Given the description of an element on the screen output the (x, y) to click on. 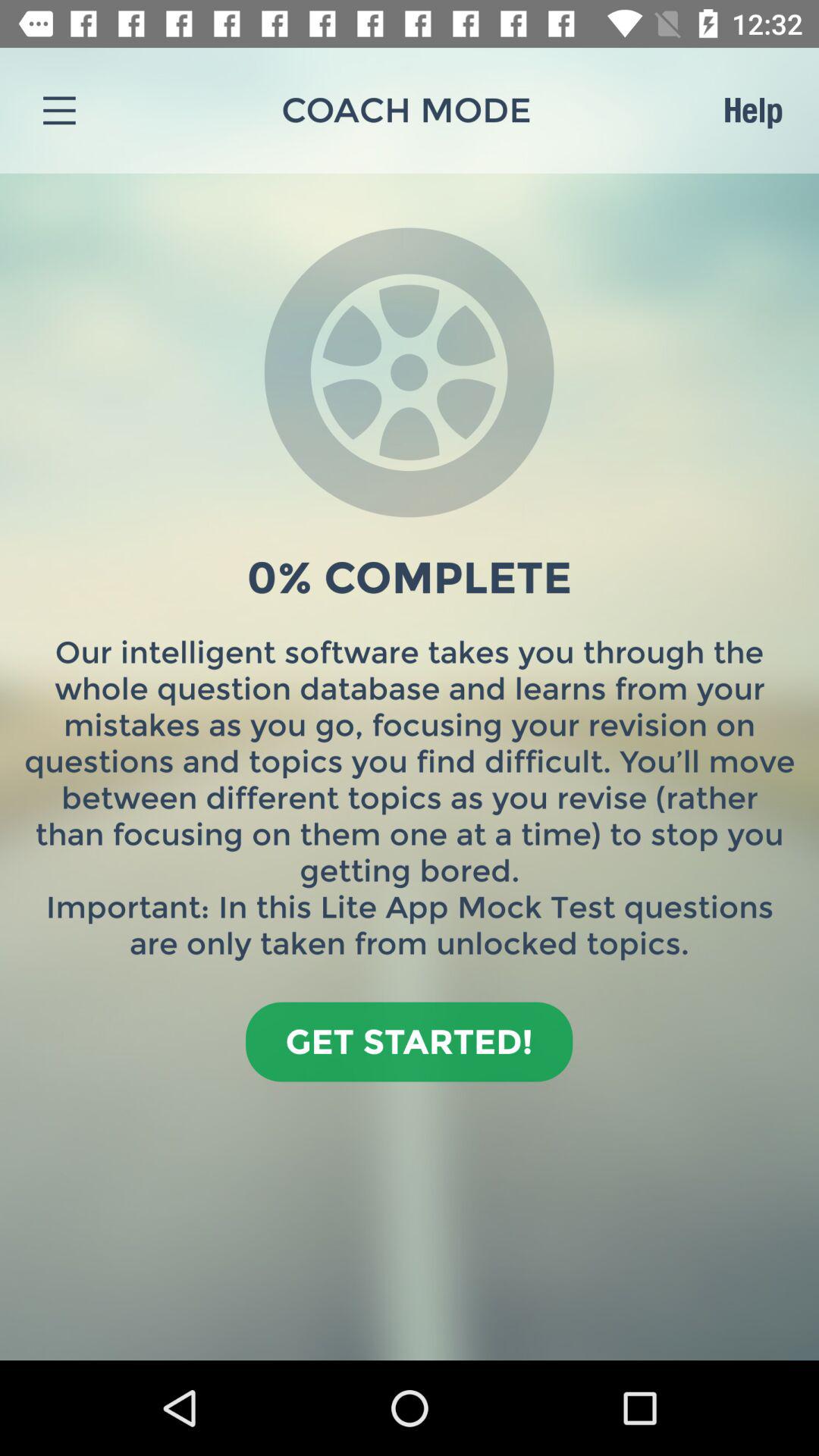
turn on item to the right of coach mode icon (752, 110)
